Given the description of an element on the screen output the (x, y) to click on. 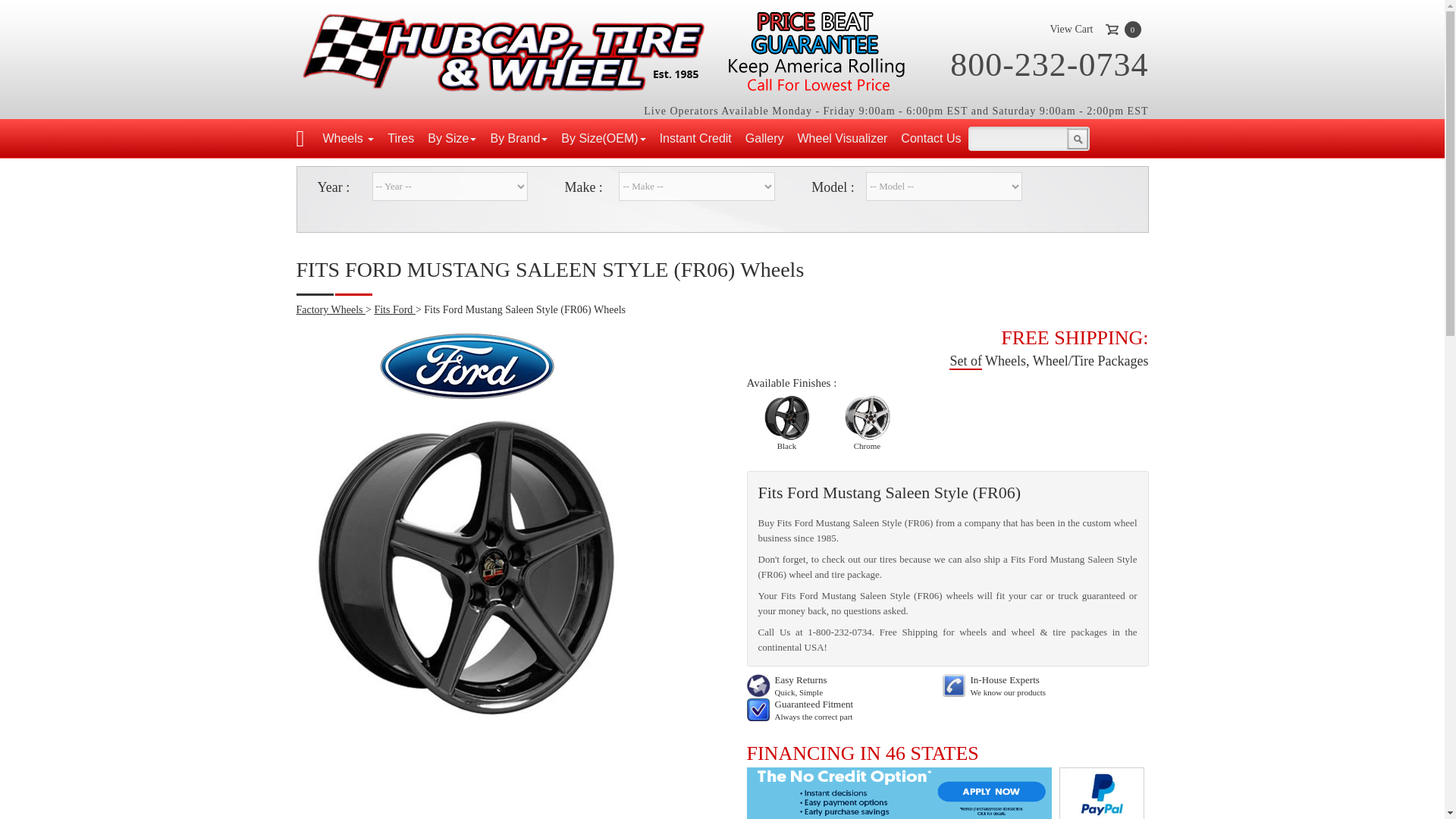
Tires (400, 138)
View Cart (1071, 29)
800-232-0734 (1049, 64)
By Brand (518, 138)
By Size (451, 138)
Wheels (347, 138)
How PayPal Works (946, 793)
